Given the description of an element on the screen output the (x, y) to click on. 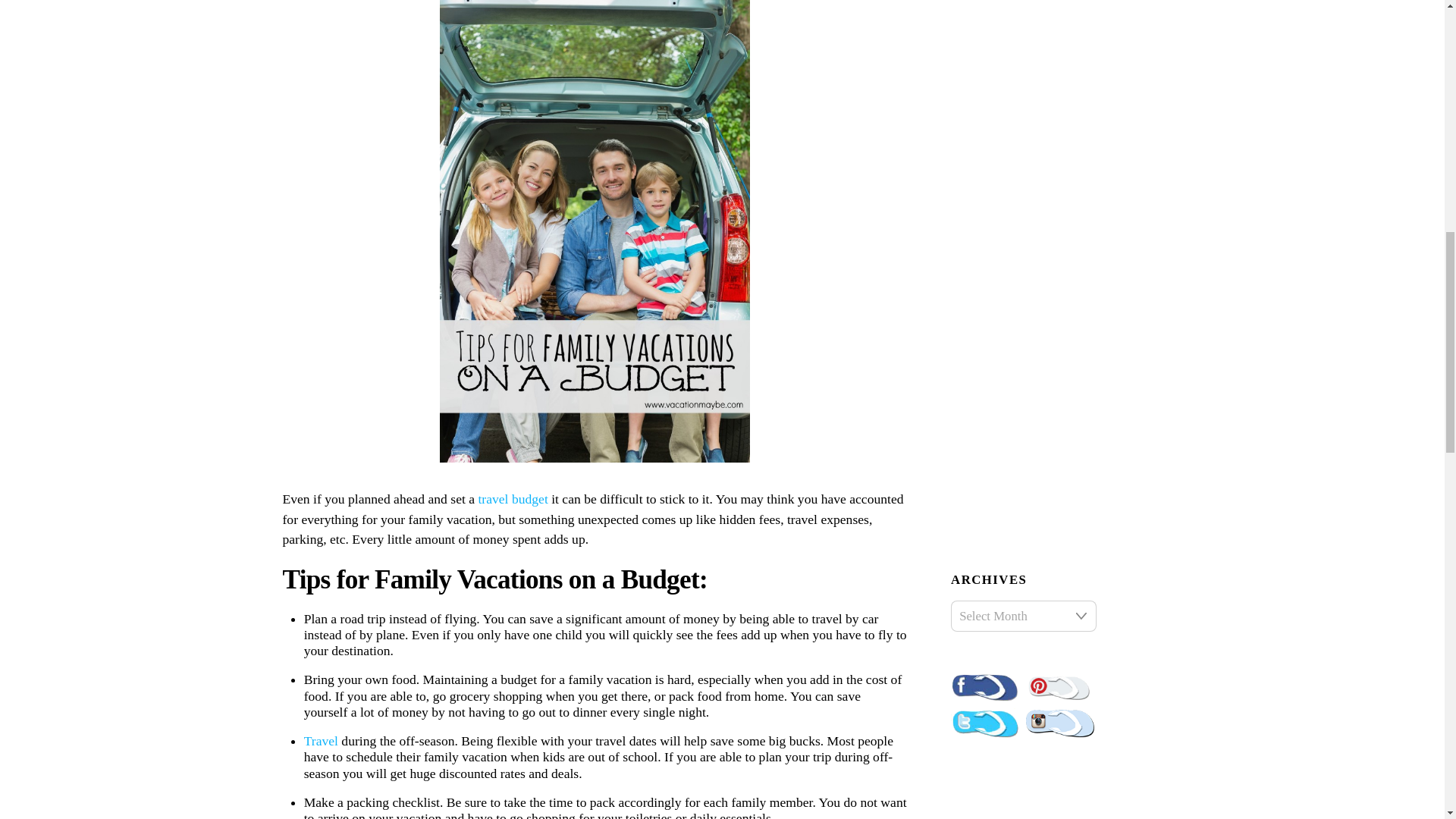
Travel (320, 740)
travel budget (514, 498)
